Given the description of an element on the screen output the (x, y) to click on. 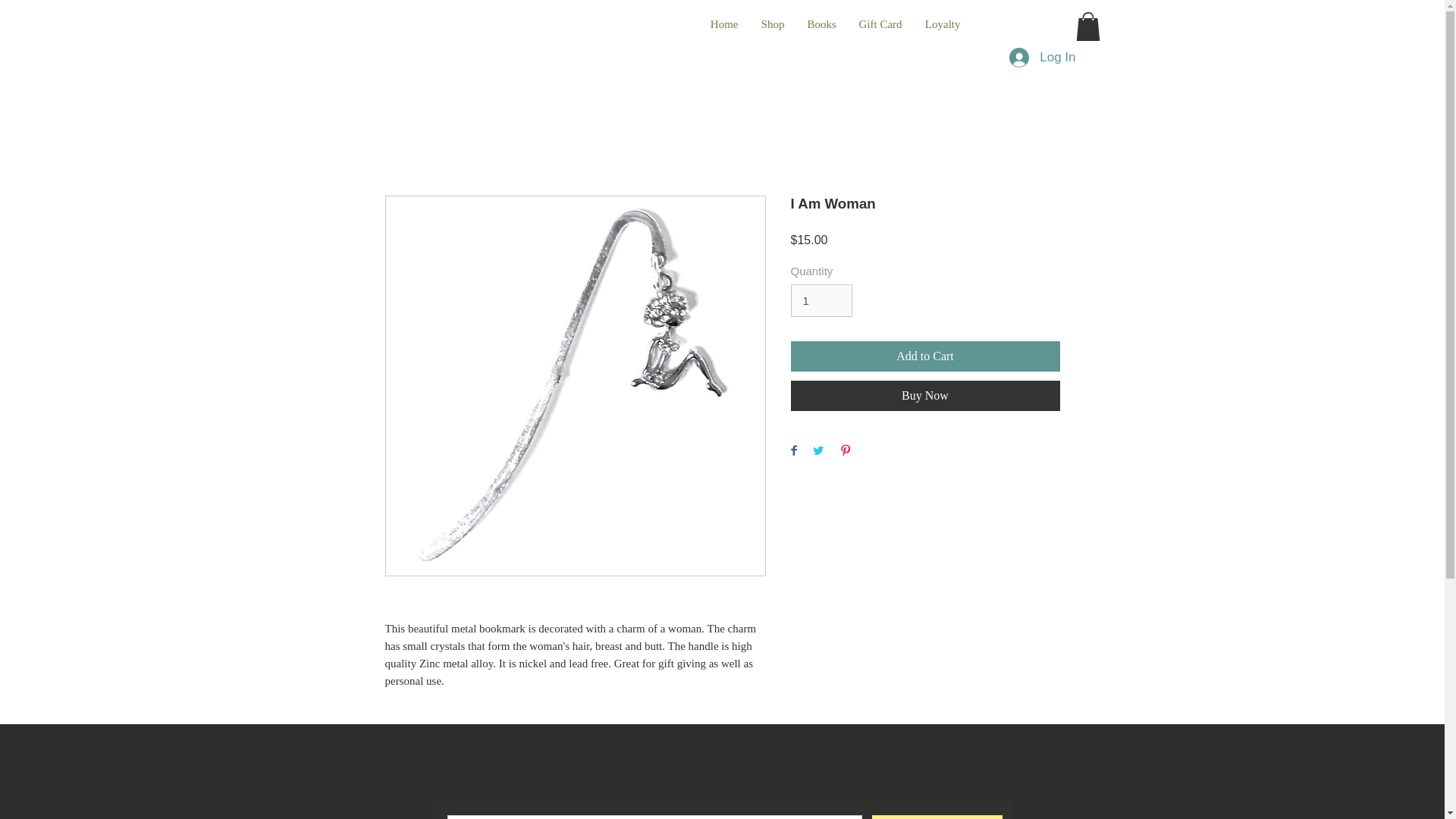
Buy Now (924, 395)
Books (821, 24)
Loyalty (941, 24)
Gift Card (880, 24)
Log In (1042, 57)
Add to Cart (924, 356)
Shop (771, 24)
Home (723, 24)
1 (820, 300)
Subscribe Now (937, 816)
